Given the description of an element on the screen output the (x, y) to click on. 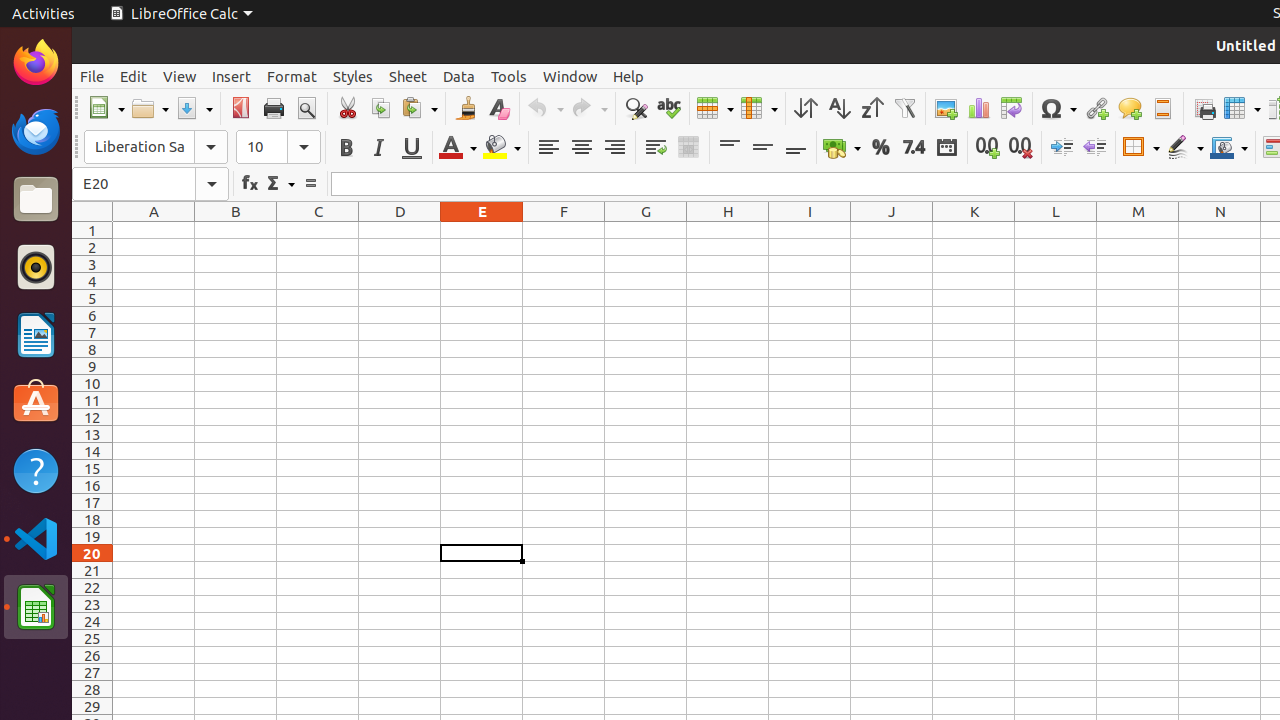
Thunderbird Mail Element type: push-button (36, 131)
Symbol Element type: push-button (1058, 108)
Copy Element type: push-button (380, 108)
Print Preview Element type: toggle-button (306, 108)
Rhythmbox Element type: push-button (36, 267)
